Given the description of an element on the screen output the (x, y) to click on. 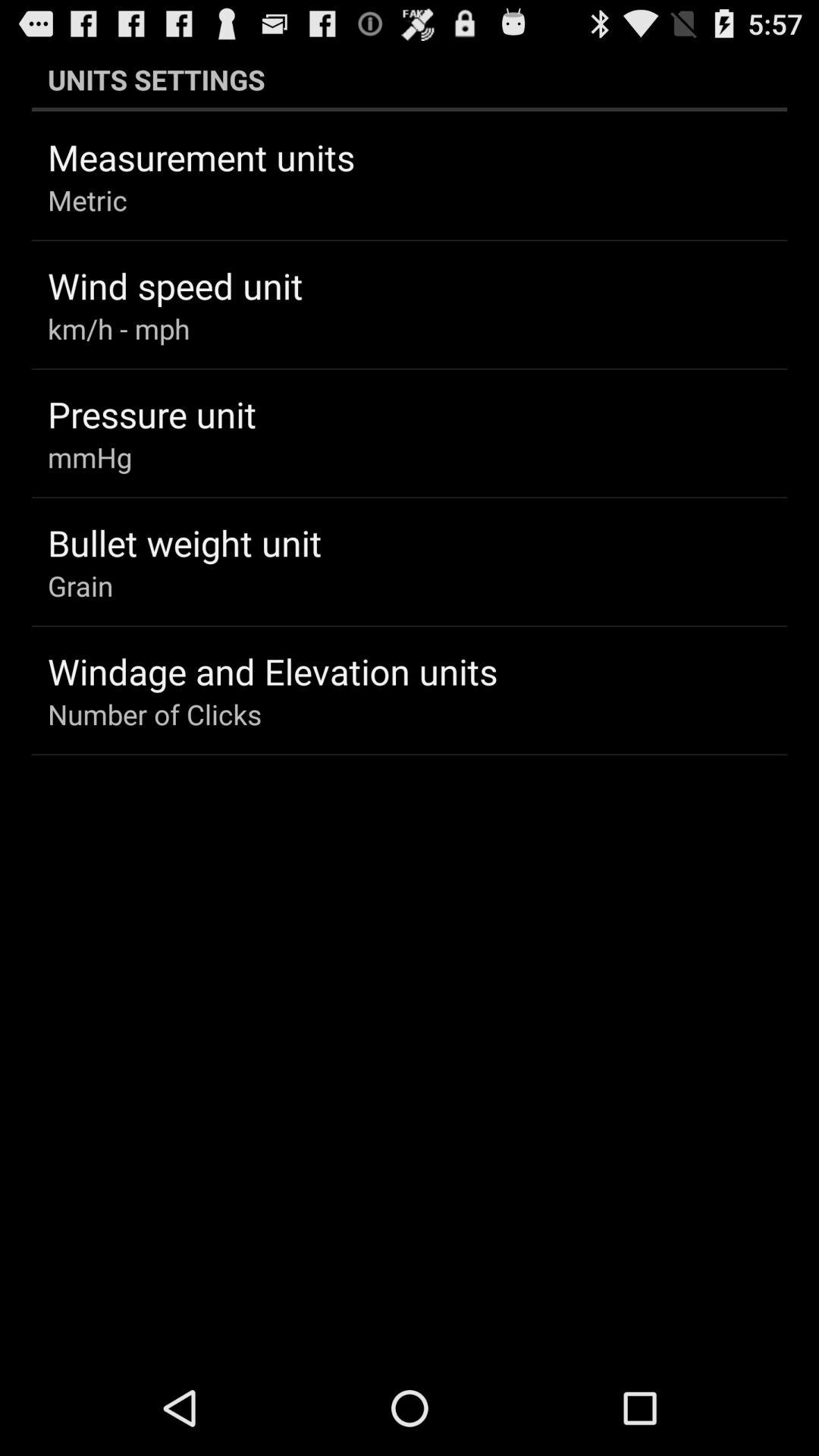
tap the app below units settings app (200, 157)
